Given the description of an element on the screen output the (x, y) to click on. 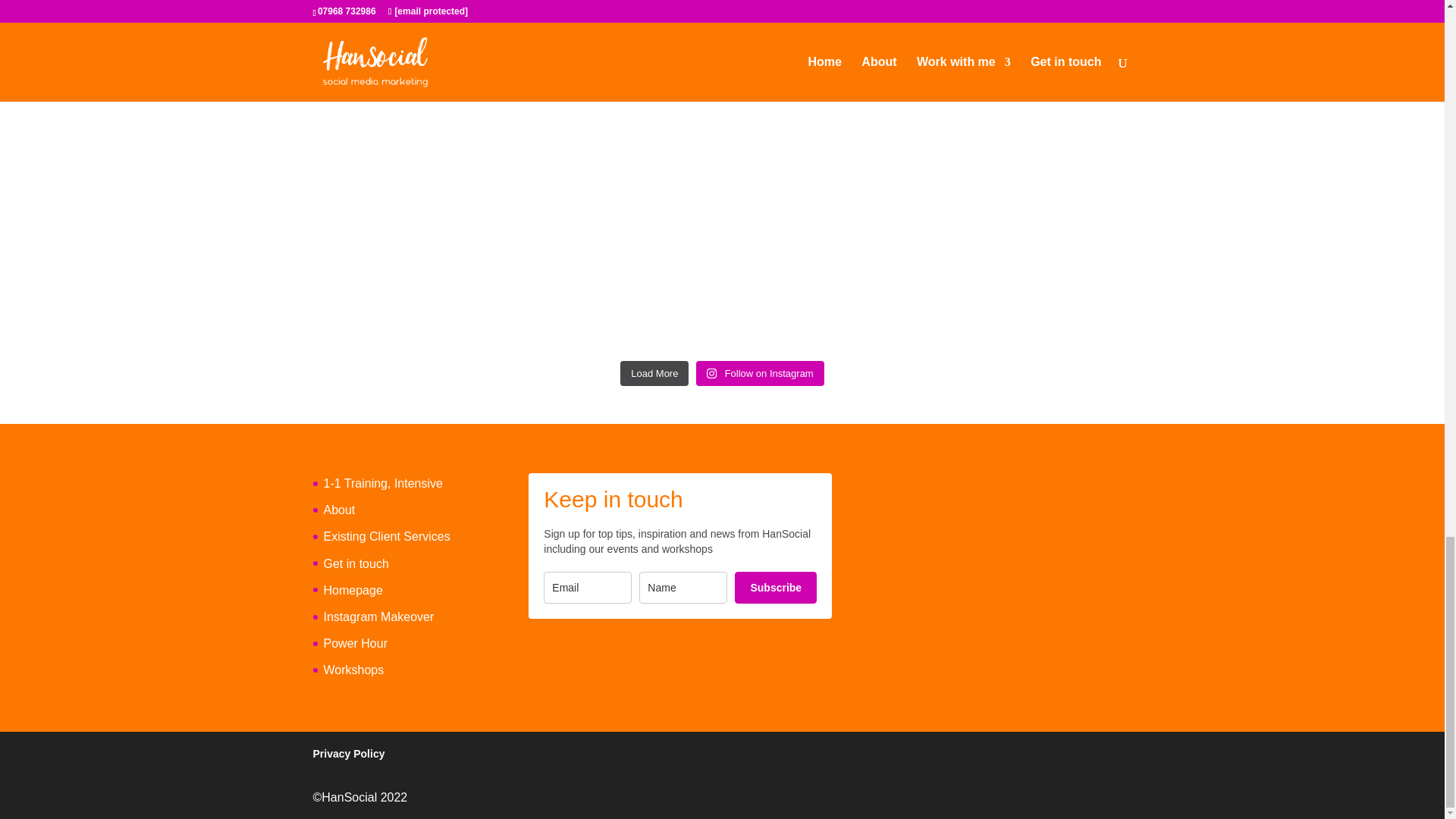
Existing Client Services (386, 535)
Subscribe (775, 587)
About (339, 509)
Instagram Makeover (378, 616)
Workshops (353, 669)
Follow on Instagram (759, 373)
Load More (654, 373)
Power Hour (355, 643)
Get in touch (355, 563)
Homepage (352, 590)
